Given the description of an element on the screen output the (x, y) to click on. 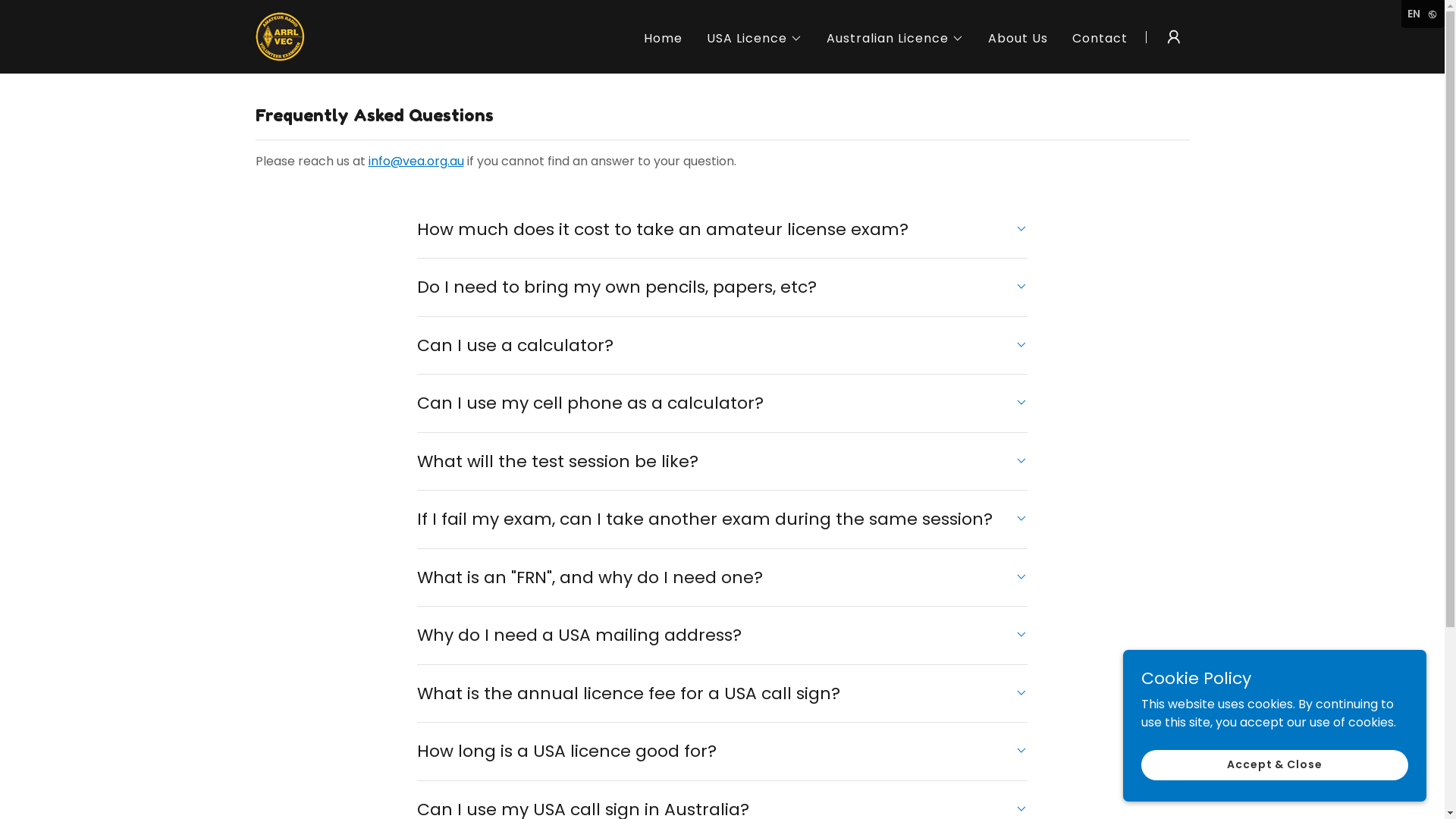
Australian Licence Element type: text (894, 38)
Home Element type: text (663, 38)
What is an "FRN", and why do I need one? Element type: text (722, 577)
About Us Element type: text (1017, 38)
Accept & Close Element type: text (1274, 764)
Can I use a calculator? Element type: text (722, 345)
info@vea.org.au Element type: text (416, 160)
What is the annual licence fee for a USA call sign? Element type: text (722, 693)
Contact Element type: text (1099, 38)
How long is a USA licence good for? Element type: text (722, 751)
Do I need to bring my own pencils, papers, etc? Element type: text (722, 287)
Why do I need a USA mailing address? Element type: text (722, 635)
USA Licence Element type: text (754, 38)
Can I use my cell phone as a calculator? Element type: text (722, 403)
What will the test session be like? Element type: text (722, 461)
How much does it cost to take an amateur license exam? Element type: text (722, 229)
